Given the description of an element on the screen output the (x, y) to click on. 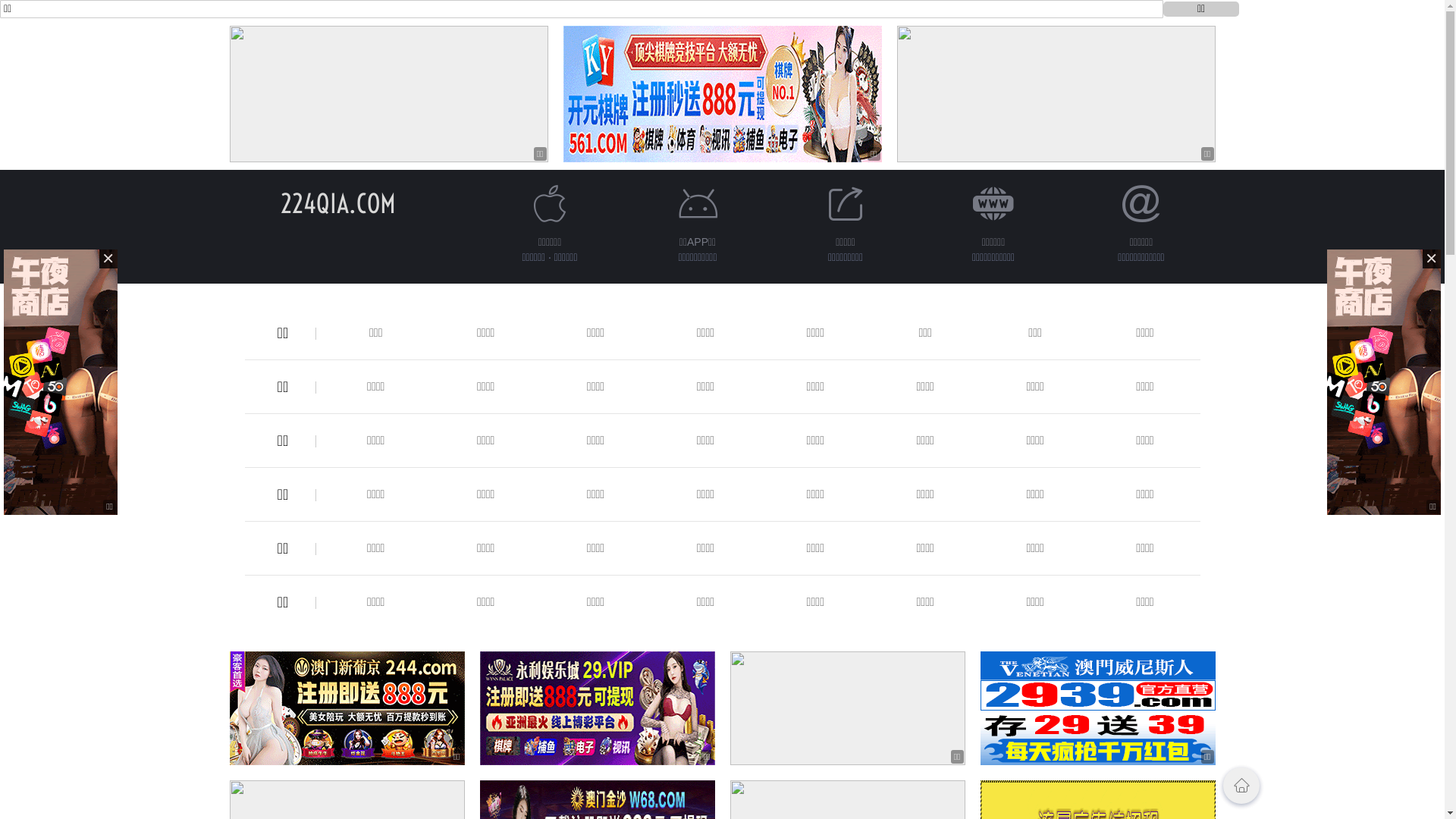
224QIA.COM Element type: text (337, 203)
